Given the description of an element on the screen output the (x, y) to click on. 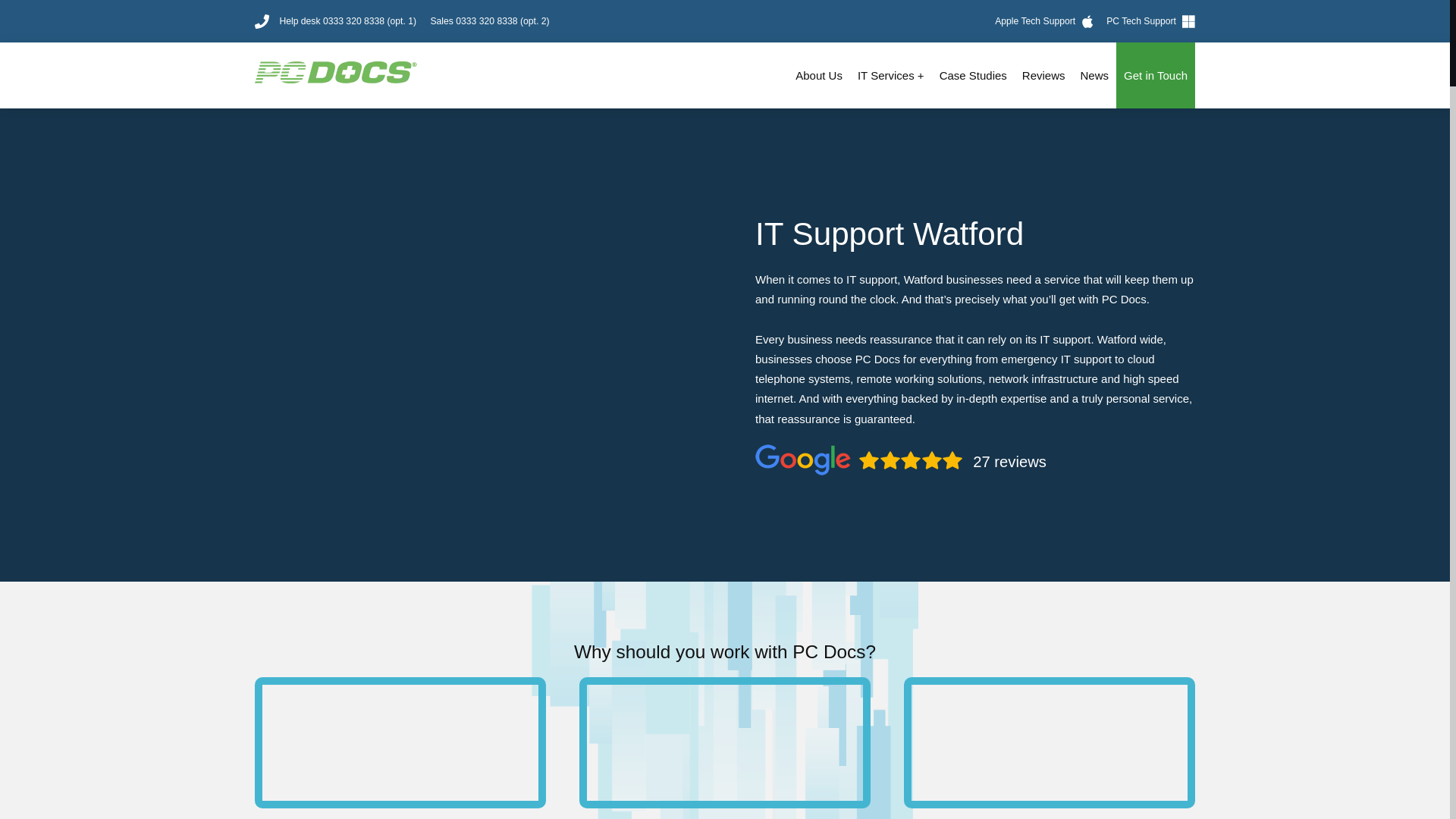
Apple Tech Support (1043, 20)
IT Services (890, 75)
Case Studies (972, 75)
PC Tech Support (1150, 20)
Get in Touch (1155, 75)
